Given the description of an element on the screen output the (x, y) to click on. 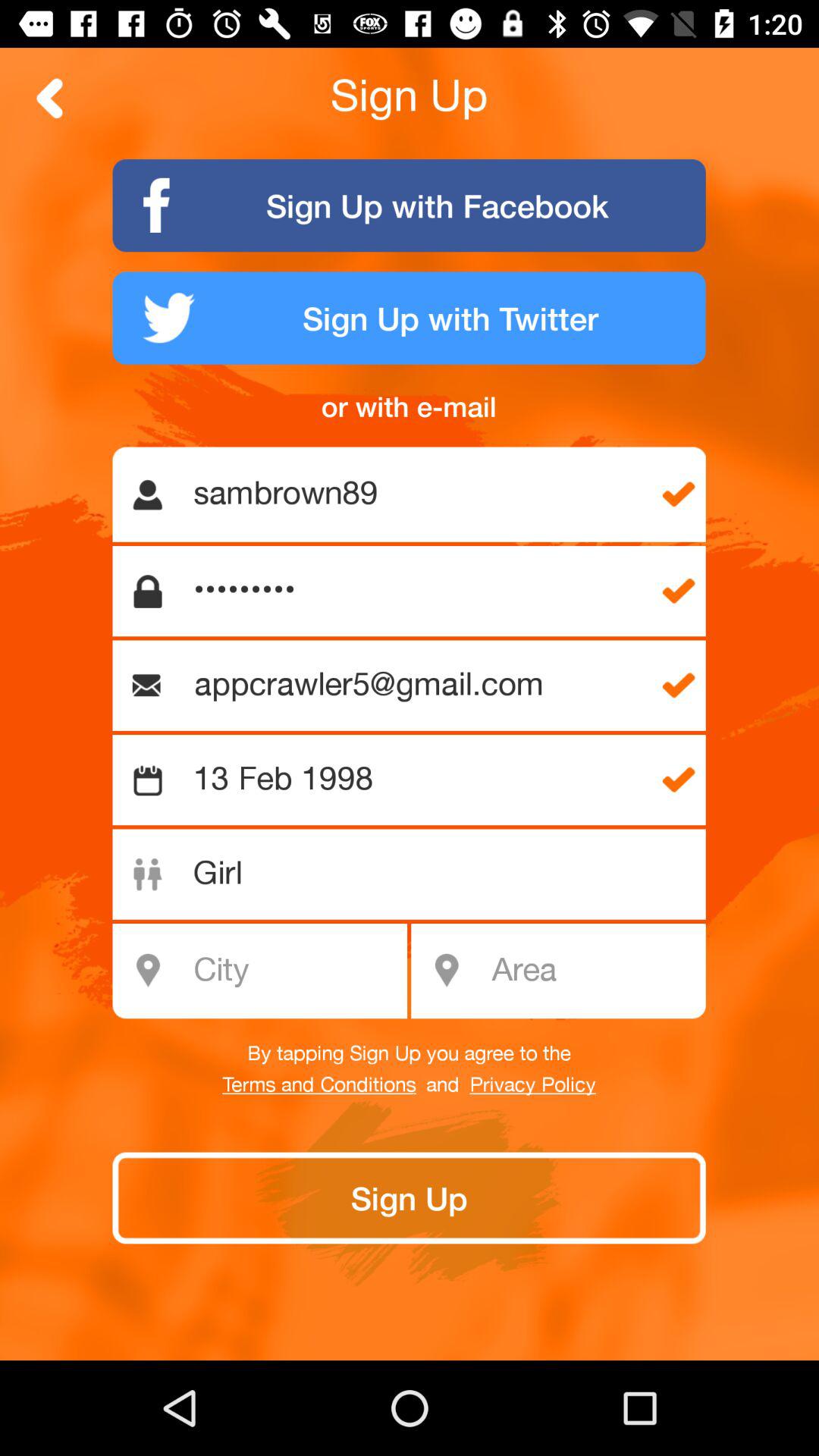
press icon to the left of the and icon (319, 1085)
